Given the description of an element on the screen output the (x, y) to click on. 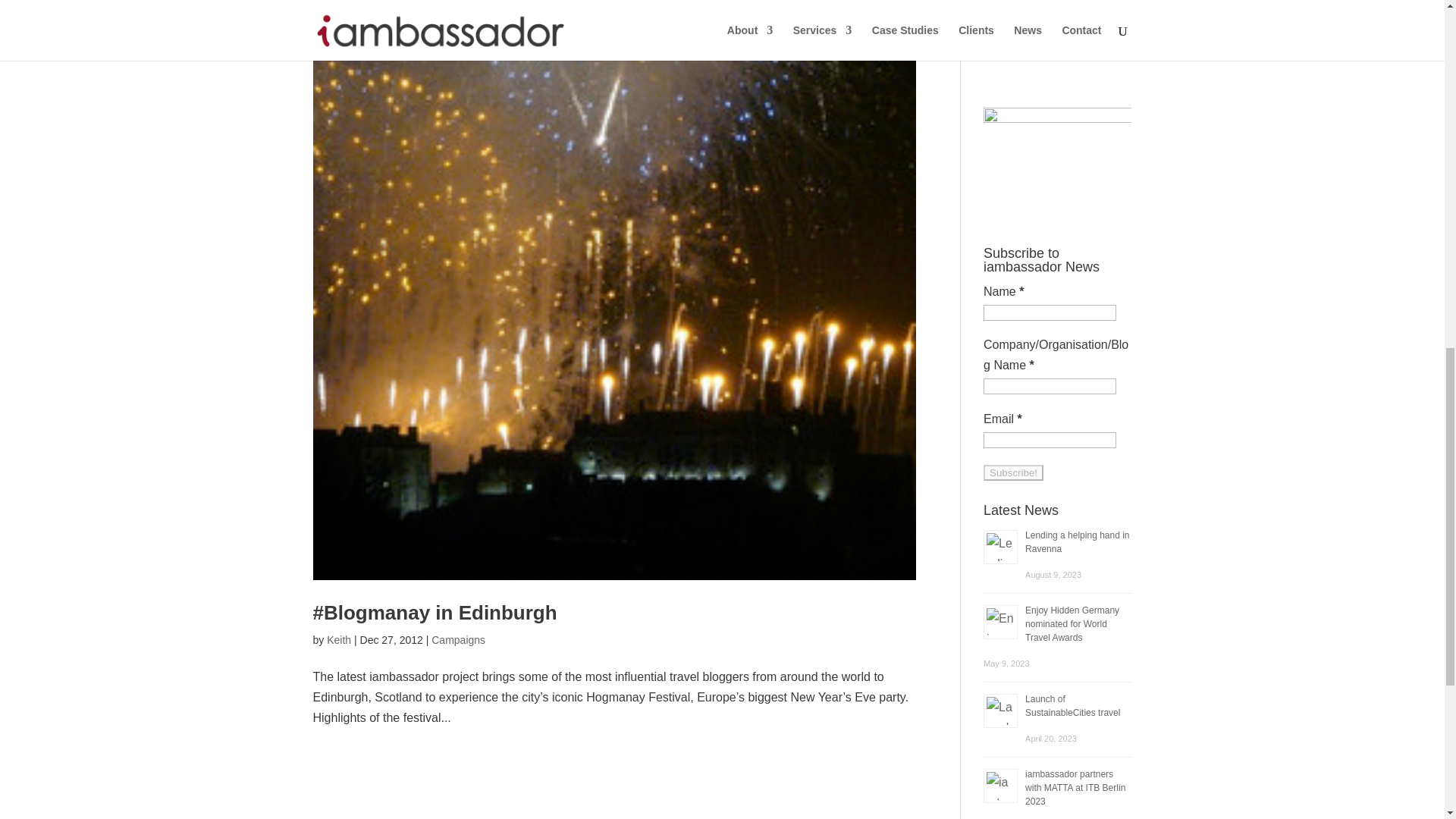
Subscribe! (1013, 472)
Subscribe! (1013, 472)
Campaigns (457, 639)
Launch of SustainableCities travel (1072, 705)
Name (1050, 312)
Lending a helping hand in Ravenna (1077, 541)
Keith (338, 639)
iambassador partners with MATTA at ITB Berlin 2023 (1075, 787)
Email (1050, 439)
Enjoy Hidden Germany nominated for World Travel Awards (1072, 623)
Posts by Keith (338, 639)
